Given the description of an element on the screen output the (x, y) to click on. 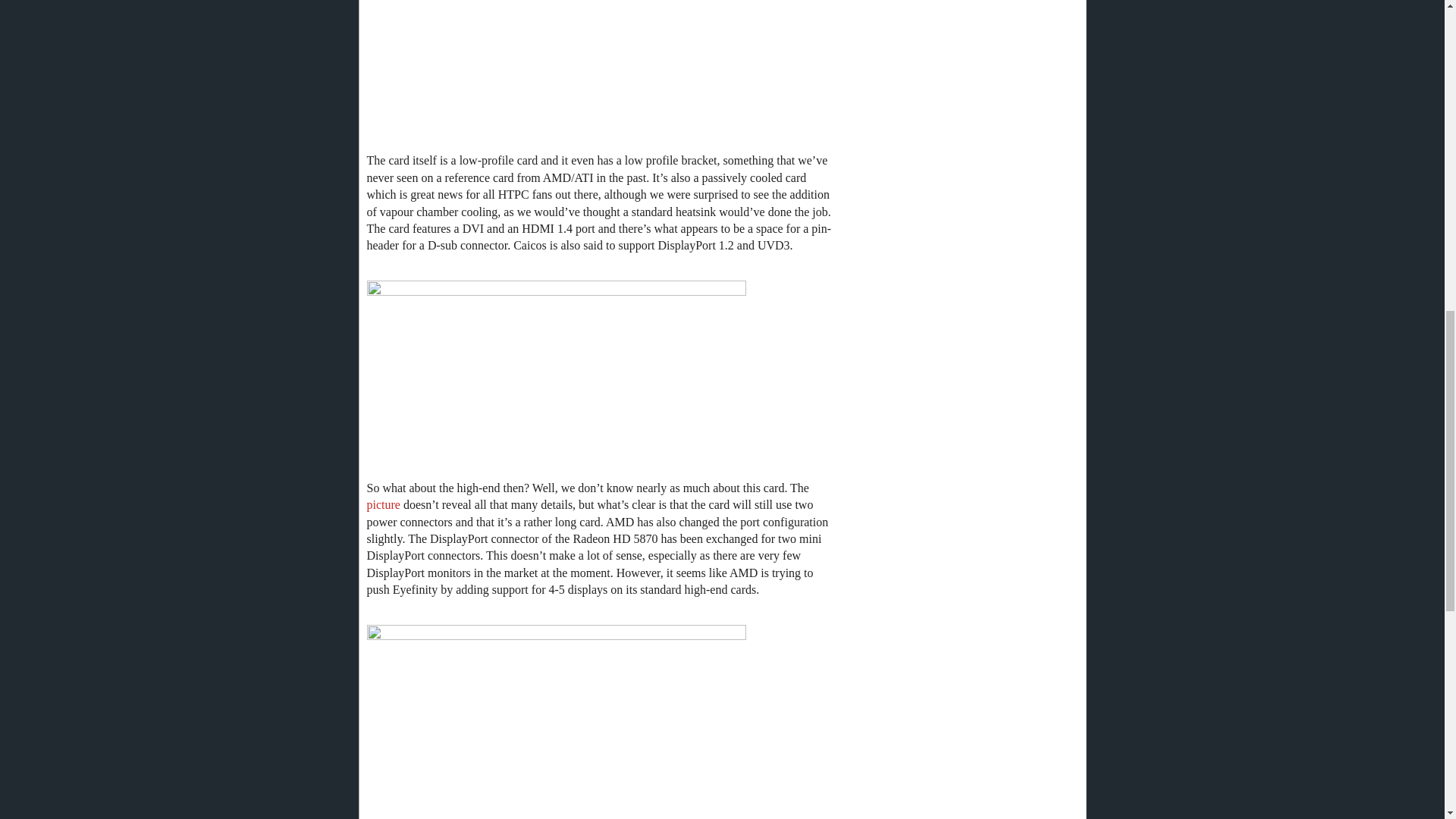
picture (383, 504)
